Given the description of an element on the screen output the (x, y) to click on. 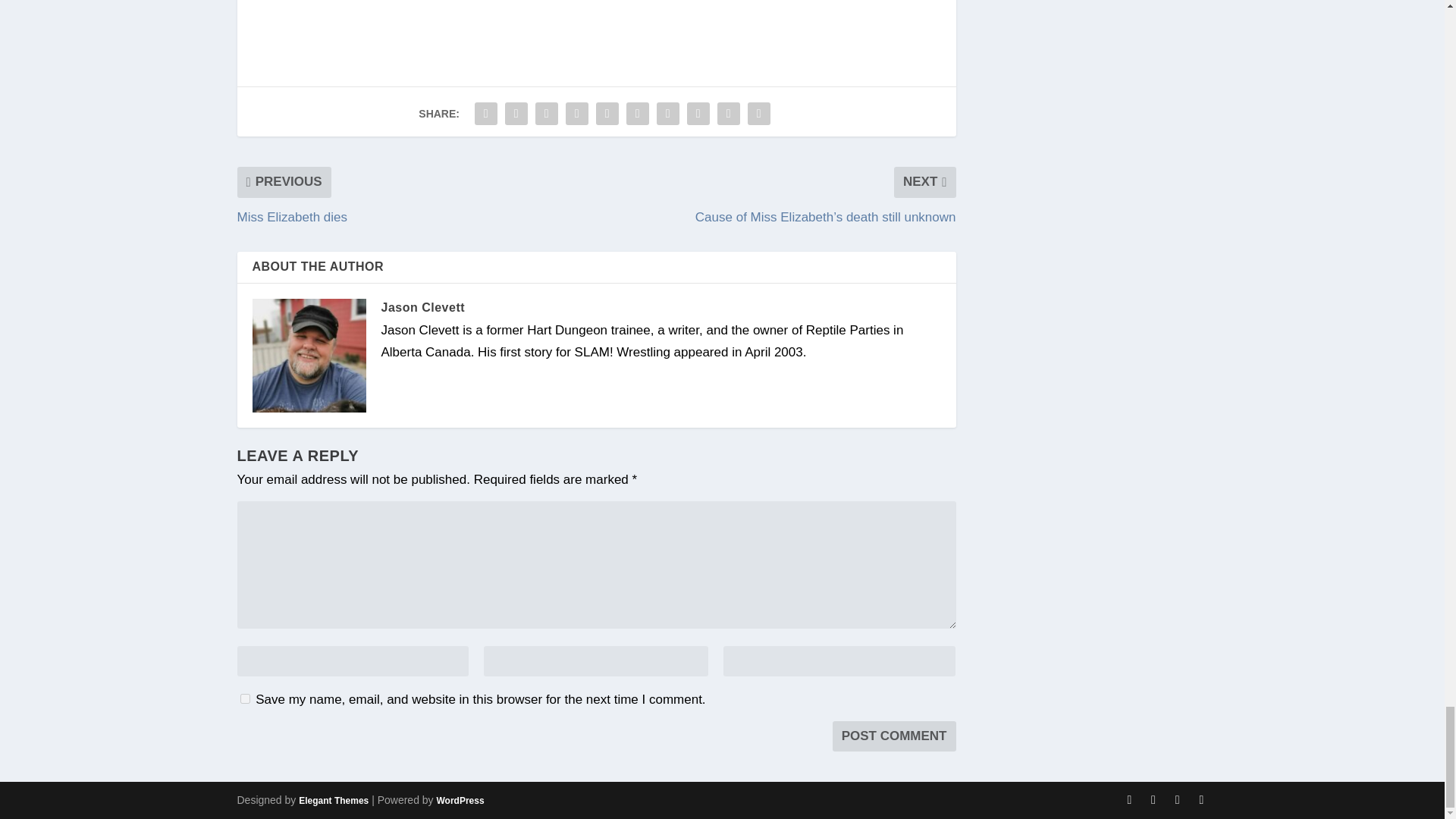
View all posts by Jason Clevett (422, 307)
Share "Stu Hart tribute show delivers" via Pinterest (607, 113)
Share "Stu Hart tribute show delivers" via Email (728, 113)
yes (244, 698)
Share "Stu Hart tribute show delivers" via Stumbleupon (697, 113)
Share "Stu Hart tribute show delivers" via LinkedIn (637, 113)
Share "Stu Hart tribute show delivers" via Facebook (485, 113)
Share "Stu Hart tribute show delivers" via Twitter (515, 113)
Share "Stu Hart tribute show delivers" via Print (759, 113)
Post Comment (894, 736)
